Given the description of an element on the screen output the (x, y) to click on. 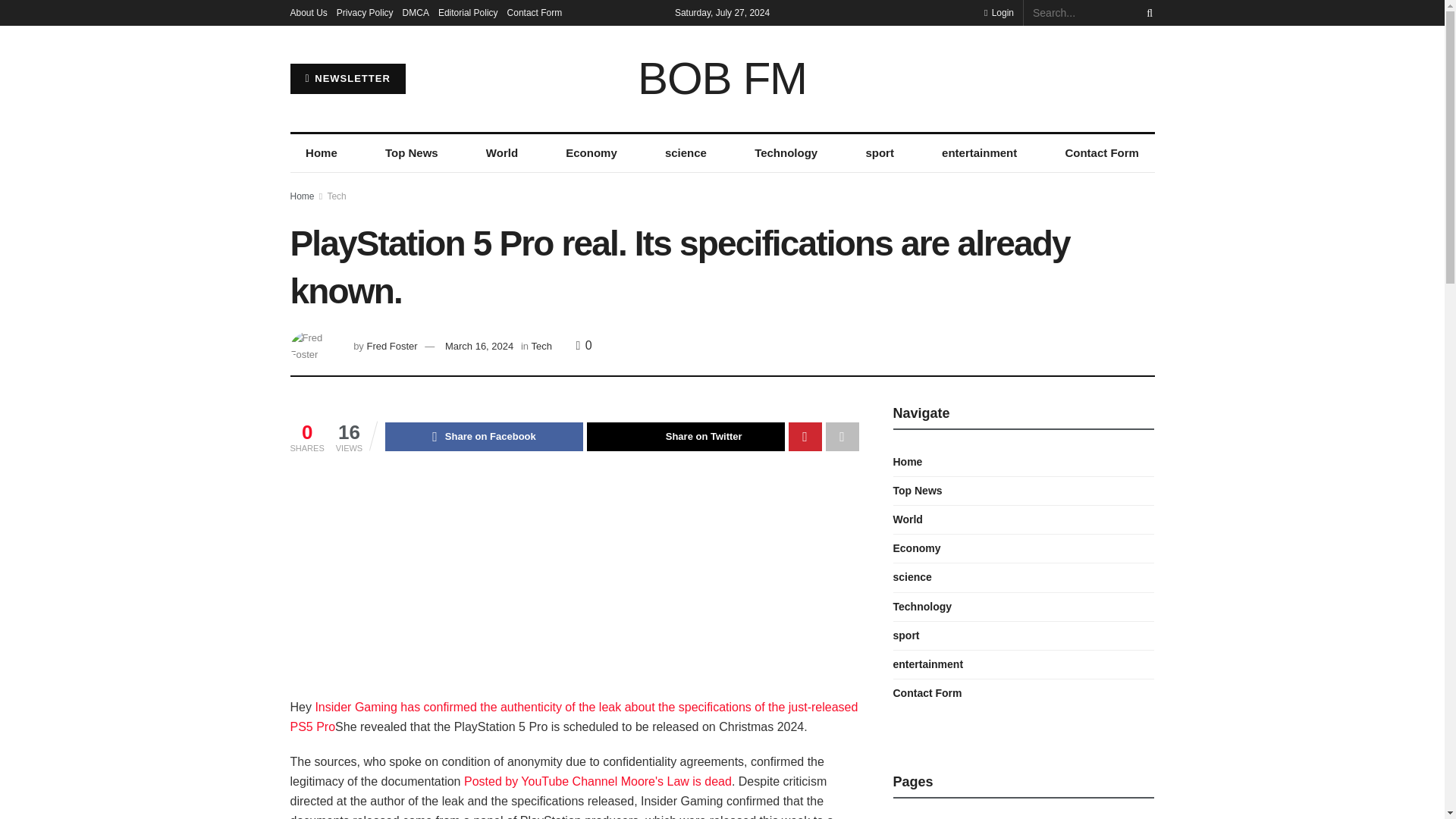
Fred Foster (391, 346)
BOB FM (721, 78)
0 (584, 345)
entertainment (979, 152)
Contact Form (534, 12)
Technology (785, 152)
Editorial Policy (467, 12)
Top News (410, 152)
Privacy Policy (364, 12)
March 16, 2024 (479, 346)
Home (320, 152)
NEWSLETTER (346, 78)
World (501, 152)
Contact Form (1101, 152)
About Us (307, 12)
